Given the description of an element on the screen output the (x, y) to click on. 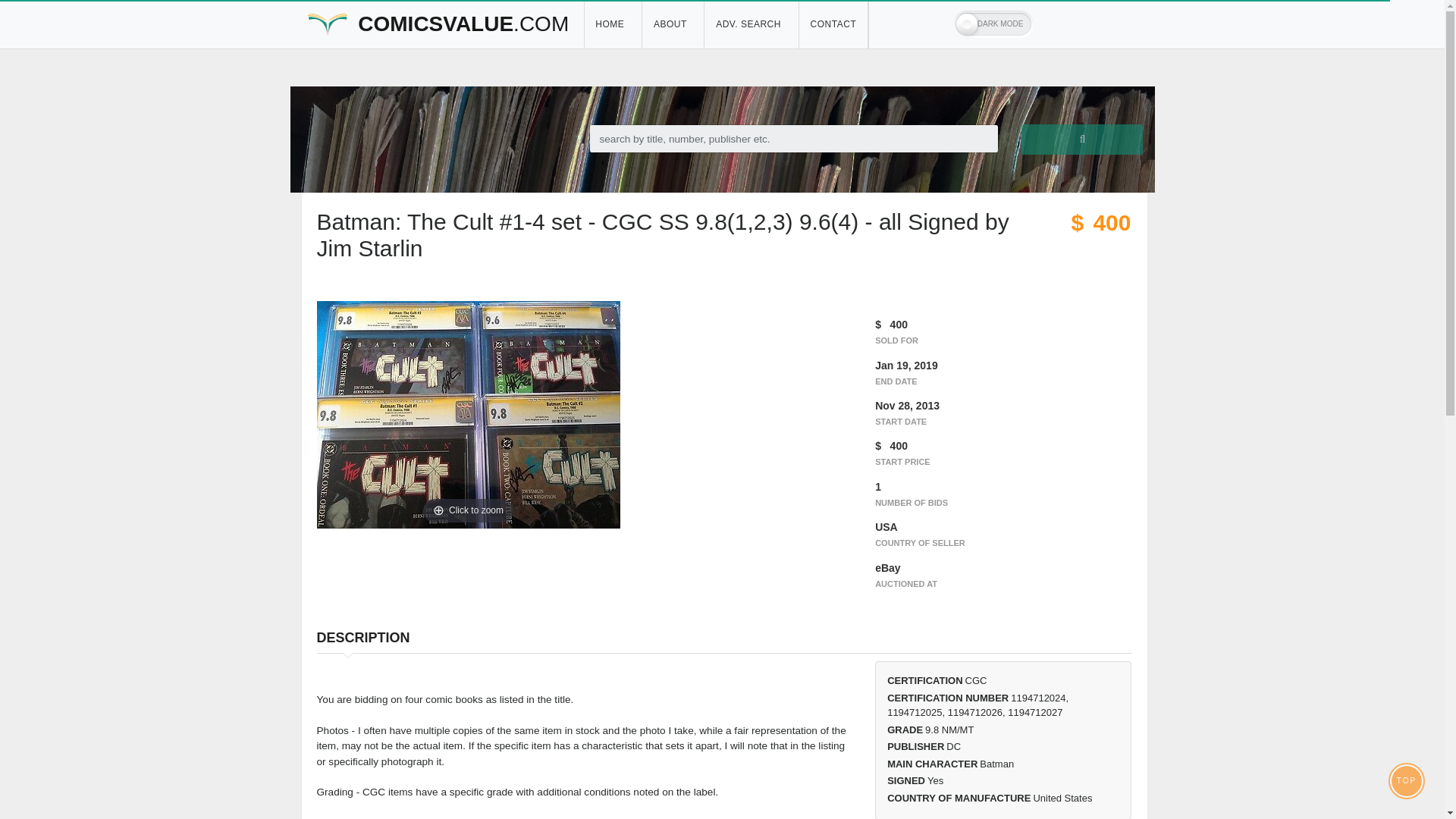
ADV. SEARCH   (750, 24)
COMICSVALUE.COM (436, 24)
TOP (1406, 780)
ABOUT   (672, 24)
CONTACT (833, 24)
Click to zoom (468, 414)
HOME   (612, 24)
